Given the description of an element on the screen output the (x, y) to click on. 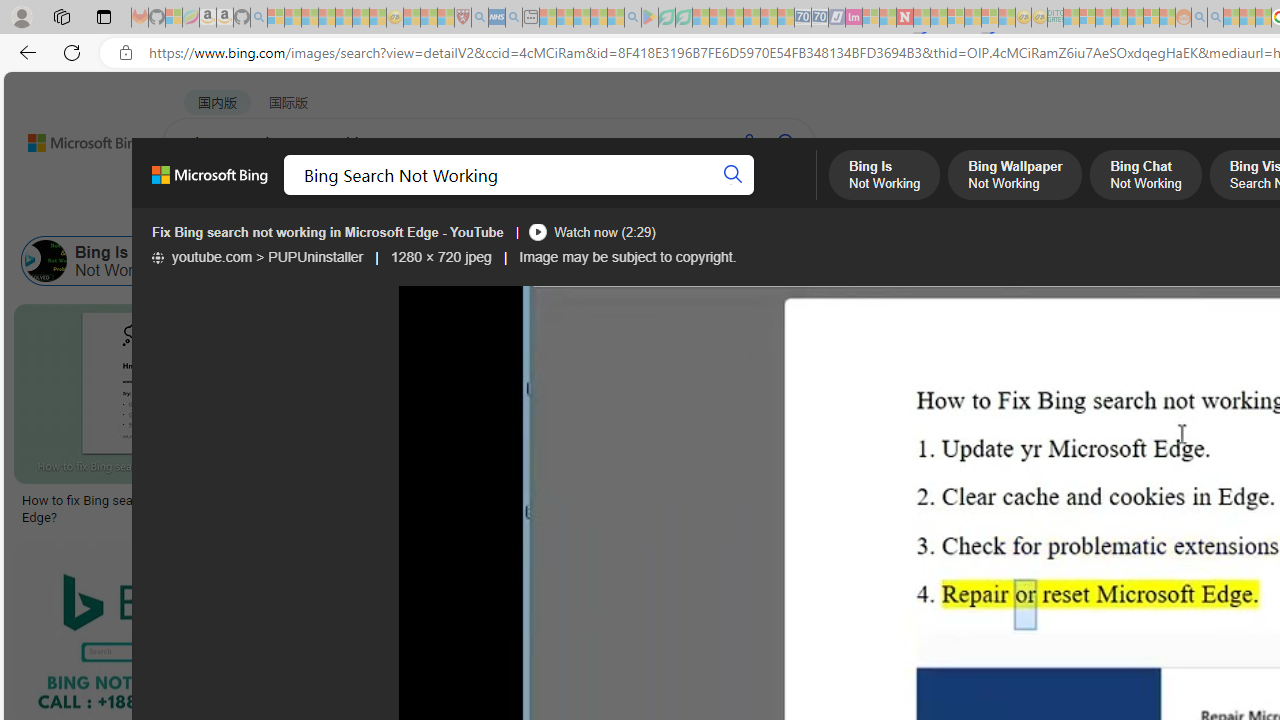
Class: item col (1053, 260)
Search button (732, 174)
How to fix Bing search not working in Microsoft Edge?Save (174, 417)
Why Is My Bing Not Working (982, 260)
Local - MSN - Sleeping (445, 17)
Watch now (2:29) (591, 232)
Https Bing Search (1183, 260)
How to fix Bing search not working in Microsoft Edge? (169, 508)
Dropdown Menu (793, 195)
Expert Portfolios - Sleeping (1119, 17)
